Given the description of an element on the screen output the (x, y) to click on. 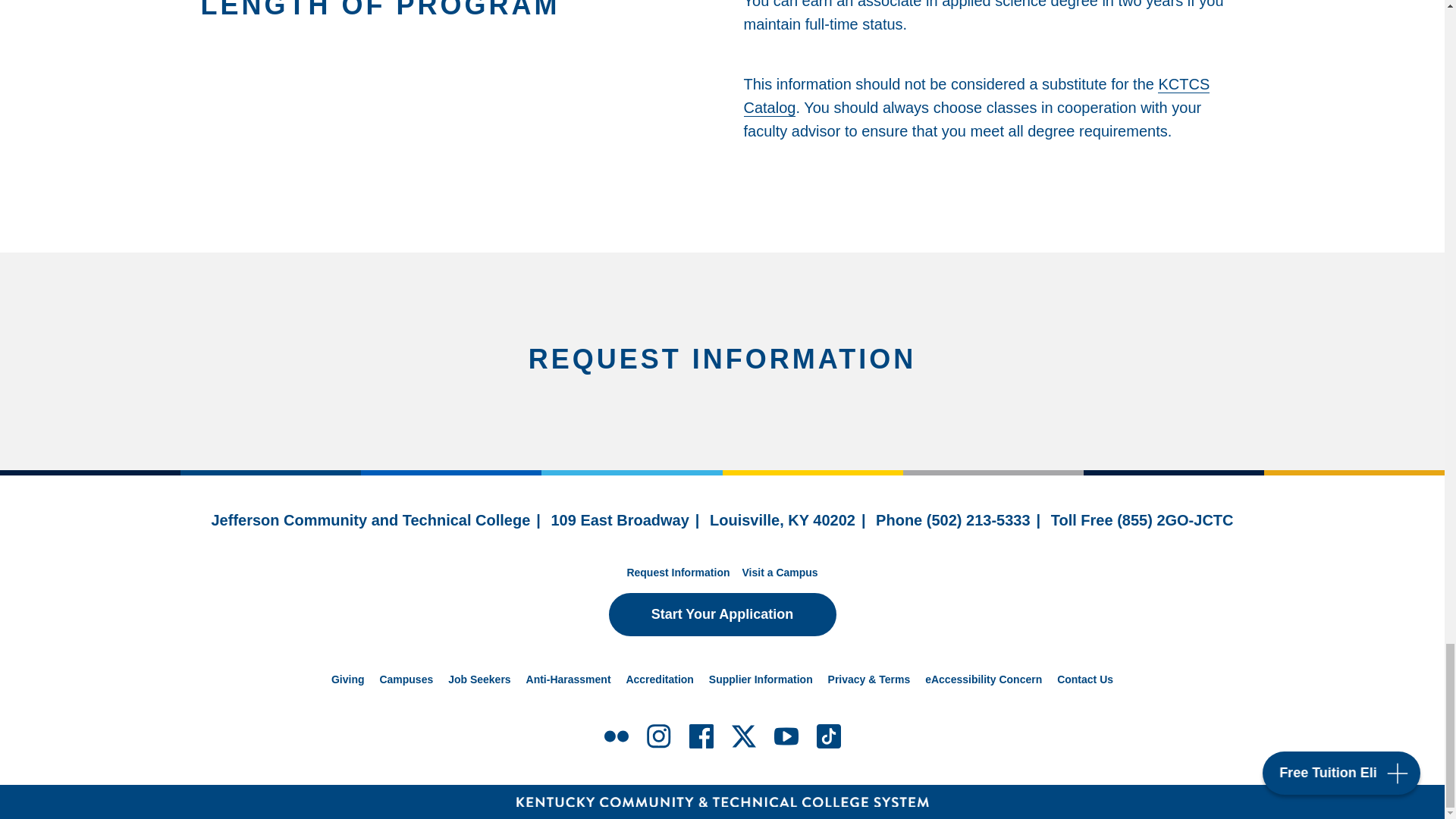
Request Information (677, 572)
Start Your Application (721, 614)
Campuses (405, 679)
Job Seekers (479, 679)
Visit a Campus (778, 572)
Giving (348, 679)
